Given the description of an element on the screen output the (x, y) to click on. 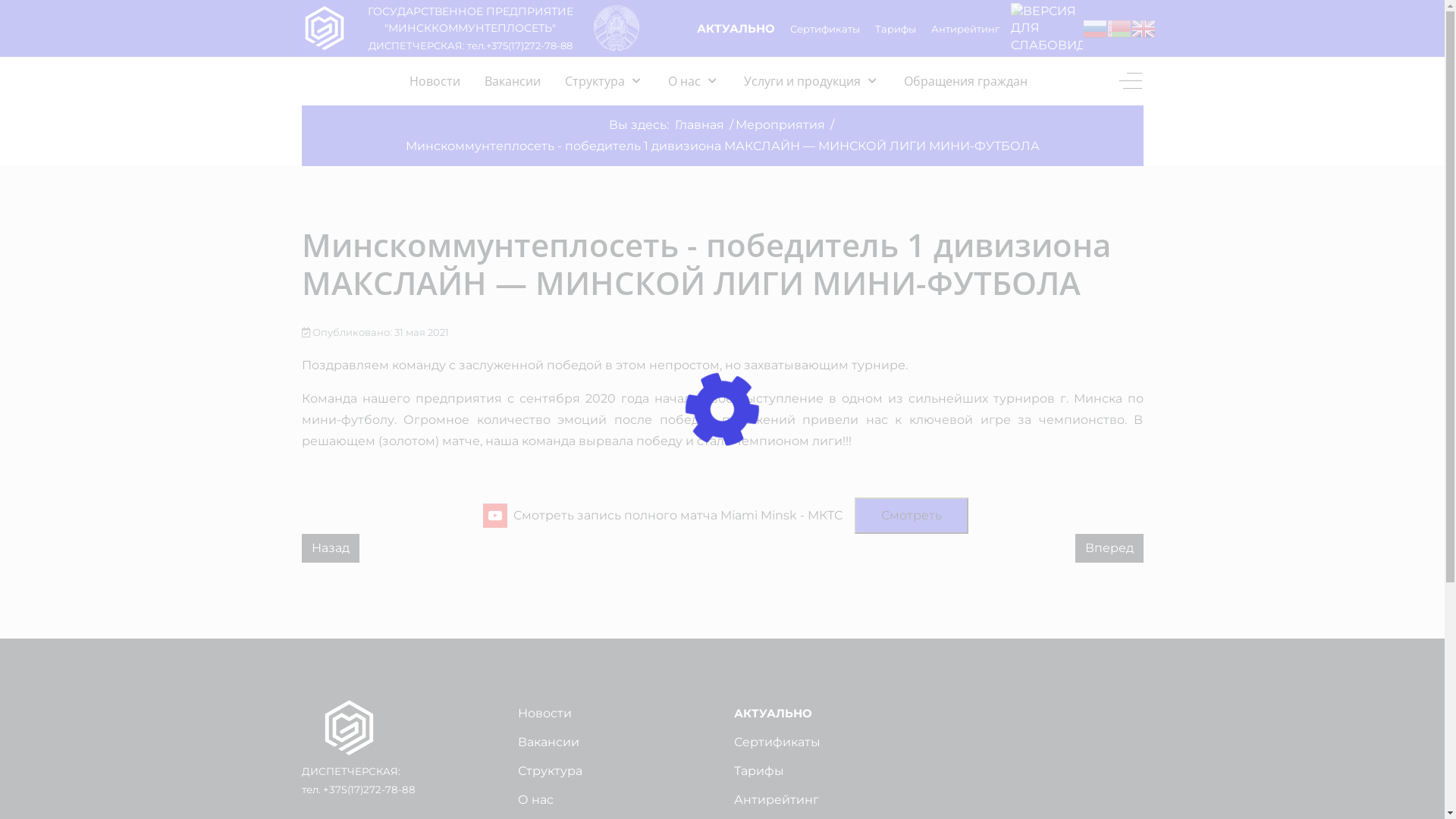
Belarusian Element type: hover (1119, 27)
English Element type: hover (1143, 27)
Russian Element type: hover (1094, 27)
